Given the description of an element on the screen output the (x, y) to click on. 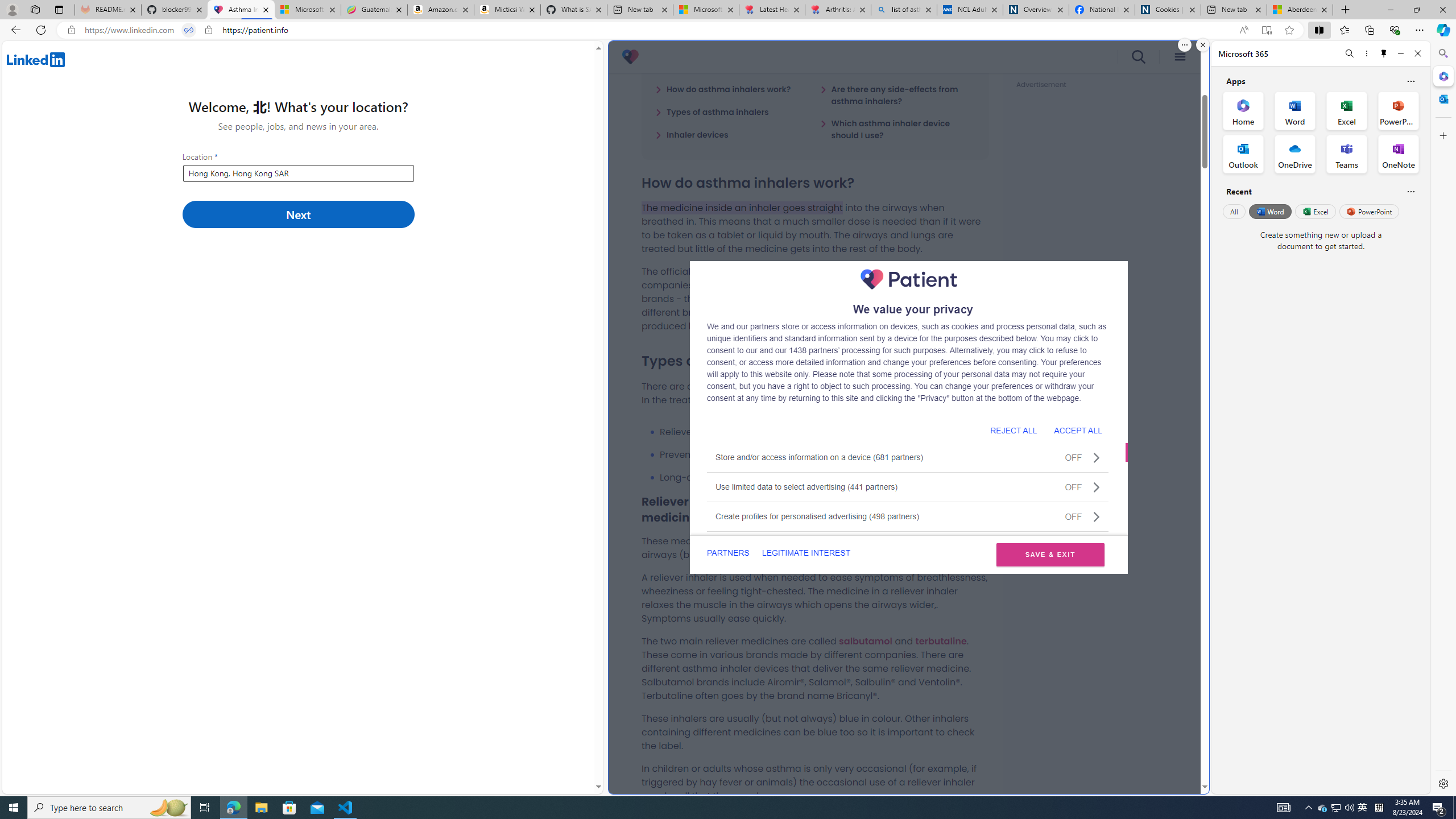
Workspaces (34, 9)
Excel (1315, 210)
Side bar (1443, 418)
Relievers (short-acting bronchodilators). (823, 431)
search (1138, 56)
Home Office App (1243, 110)
LEGITIMATE INTEREST (805, 552)
Close Customize pane (1442, 135)
Aberdeen, Hong Kong SAR hourly forecast | Microsoft Weather (1300, 9)
Microsoft 365 (1442, 76)
Address and search bar (658, 29)
